Given the description of an element on the screen output the (x, y) to click on. 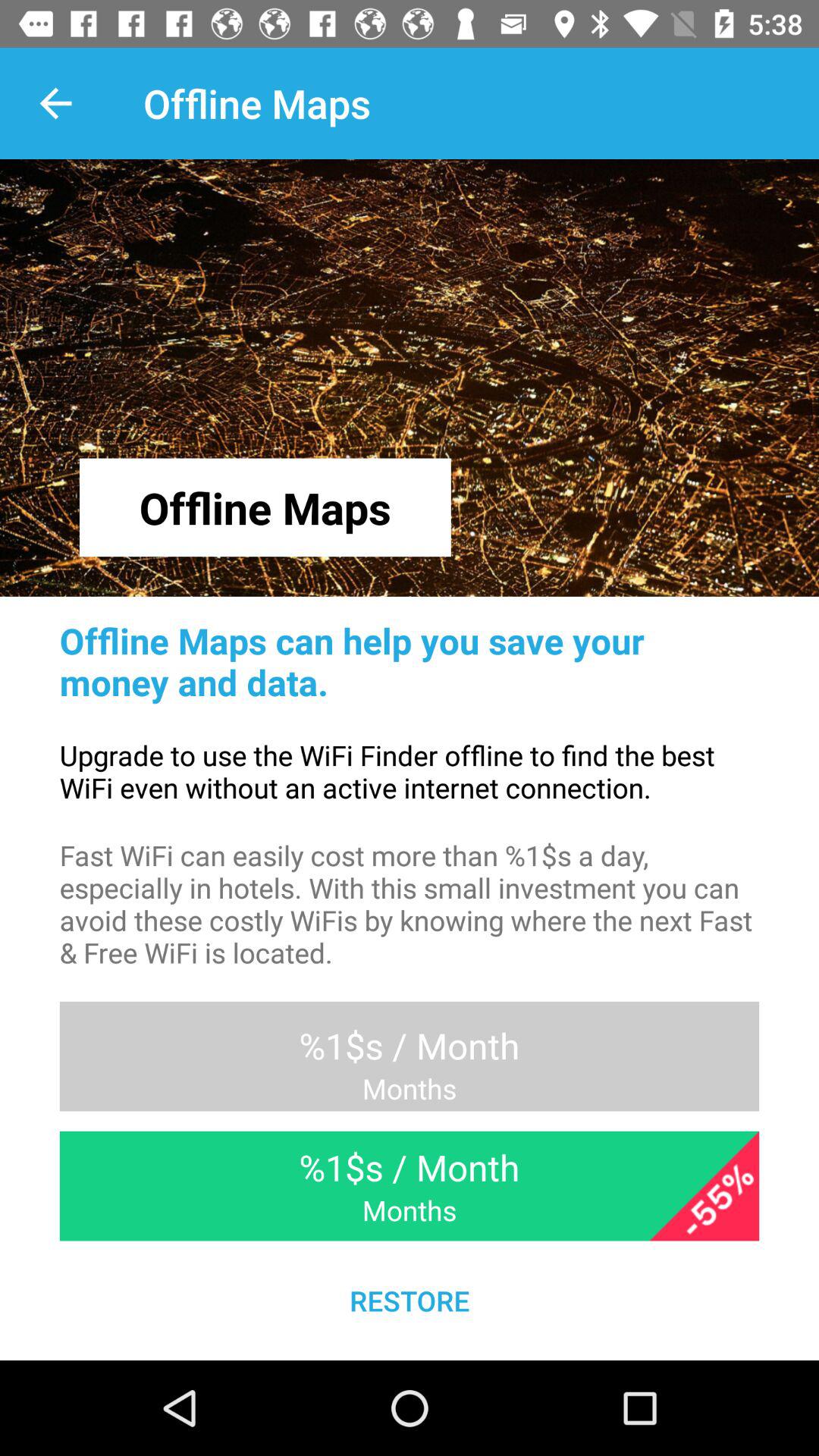
flip until the restore item (409, 1300)
